Given the description of an element on the screen output the (x, y) to click on. 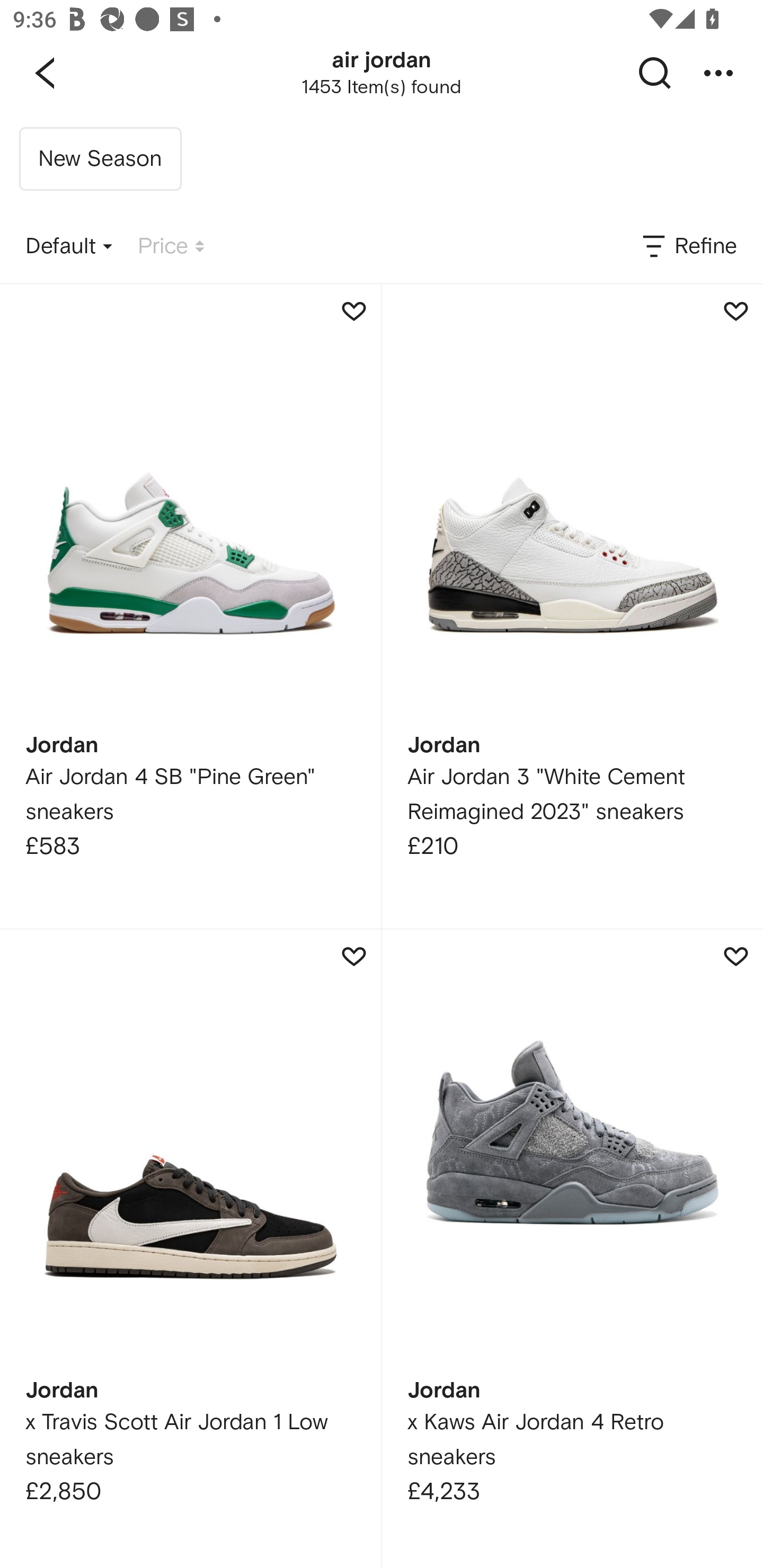
New Season (100, 158)
Default (68, 246)
Price (171, 246)
Refine (688, 246)
Jordan Air Jordan 4 SB "Pine Green" sneakers £583 (190, 605)
Jordan x Kaws Air Jordan 4 Retro sneakers £4,233 (572, 1248)
